Given the description of an element on the screen output the (x, y) to click on. 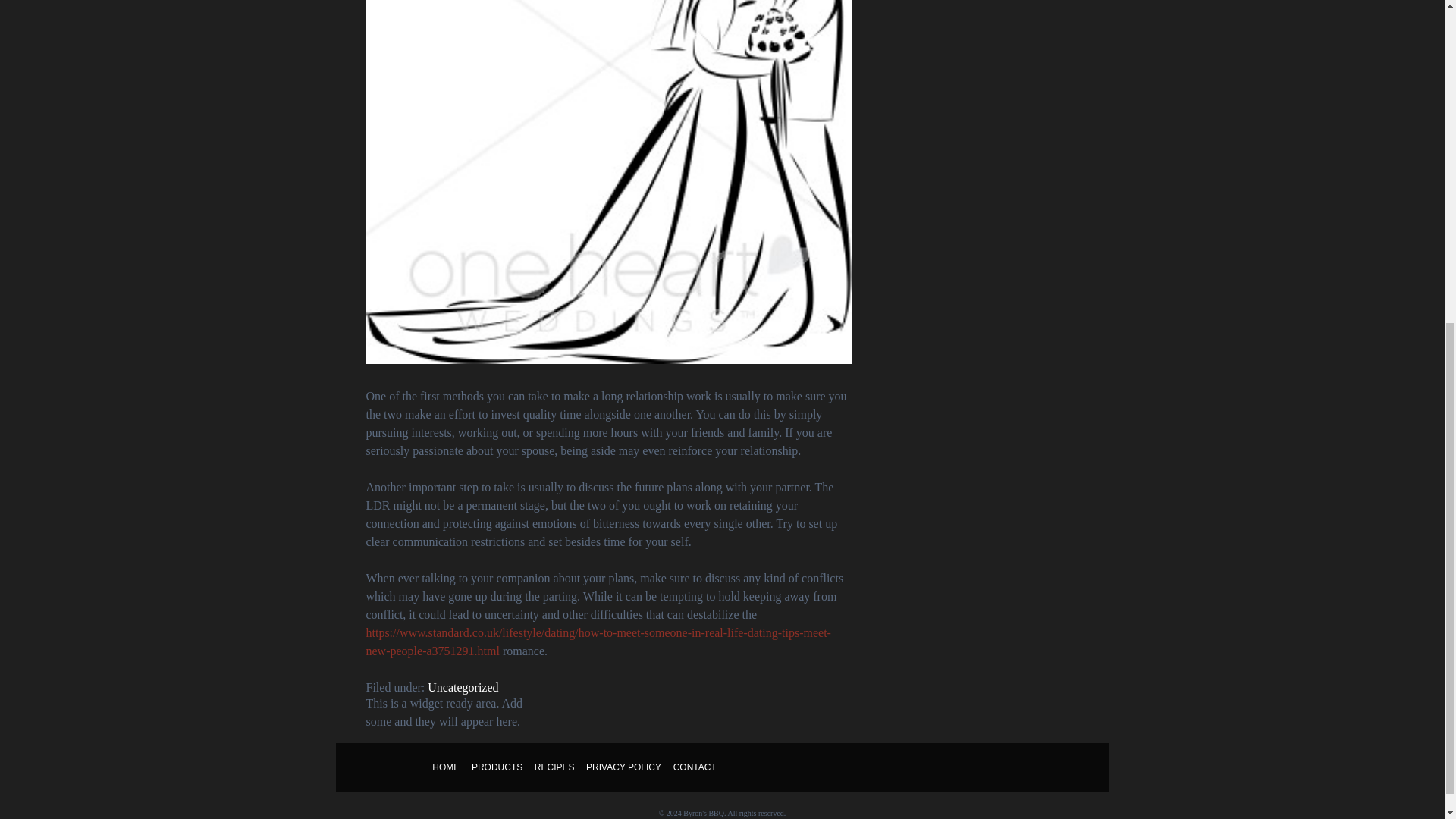
RECIPES (553, 768)
HOME (445, 768)
Uncategorized (462, 686)
PRODUCTS (496, 768)
PRIVACY POLICY (622, 768)
CONTACT (694, 768)
